Given the description of an element on the screen output the (x, y) to click on. 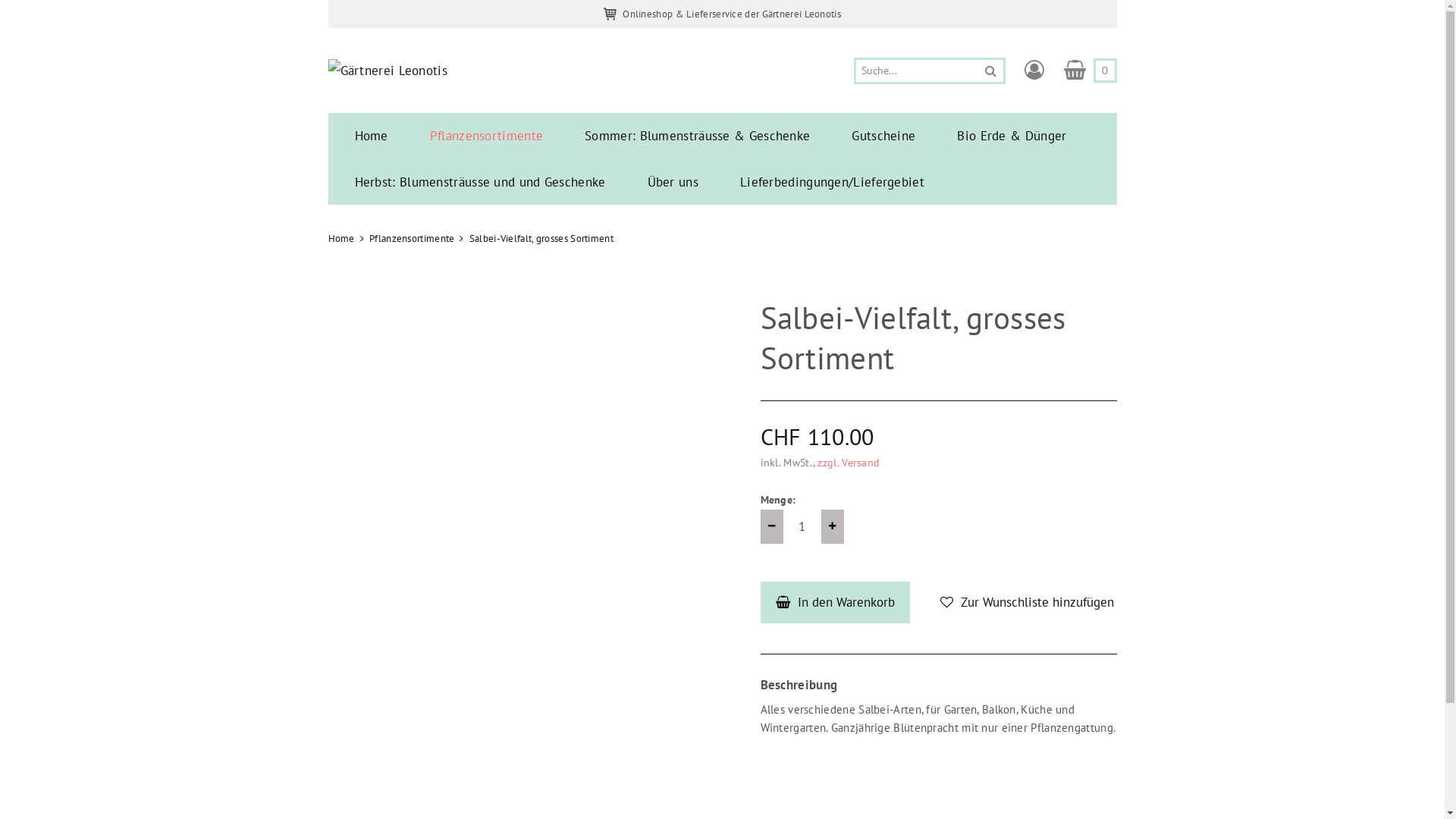
In den Warenkorb Element type: text (834, 602)
Suche Element type: text (990, 70)
Home Element type: text (371, 135)
Gutscheine Element type: text (883, 135)
Salbei-Vielfalt, grosses Sortiment Element type: text (541, 238)
zzgl. Versand Element type: text (848, 462)
Warenkorb anzeigen. Sie haben 0 Artikel im Warenkorb.
0 Element type: text (1090, 70)
Lieferbedingungen/Liefergebiet Element type: text (832, 181)
Home Element type: text (340, 238)
Pflanzensortimente Element type: text (411, 238)
Pflanzensortimente Element type: text (485, 135)
